Given the description of an element on the screen output the (x, y) to click on. 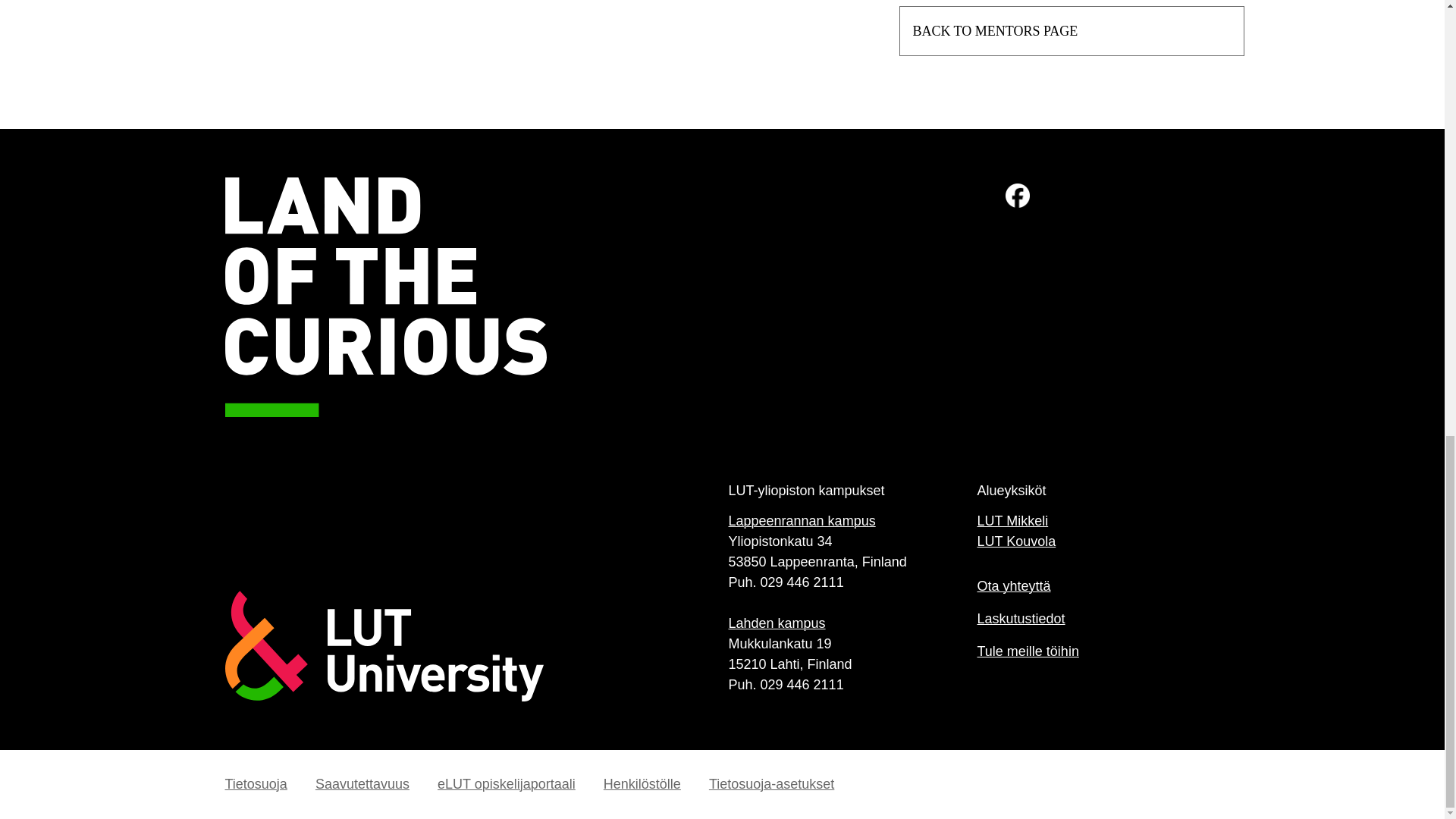
Etusivu (473, 645)
